Given the description of an element on the screen output the (x, y) to click on. 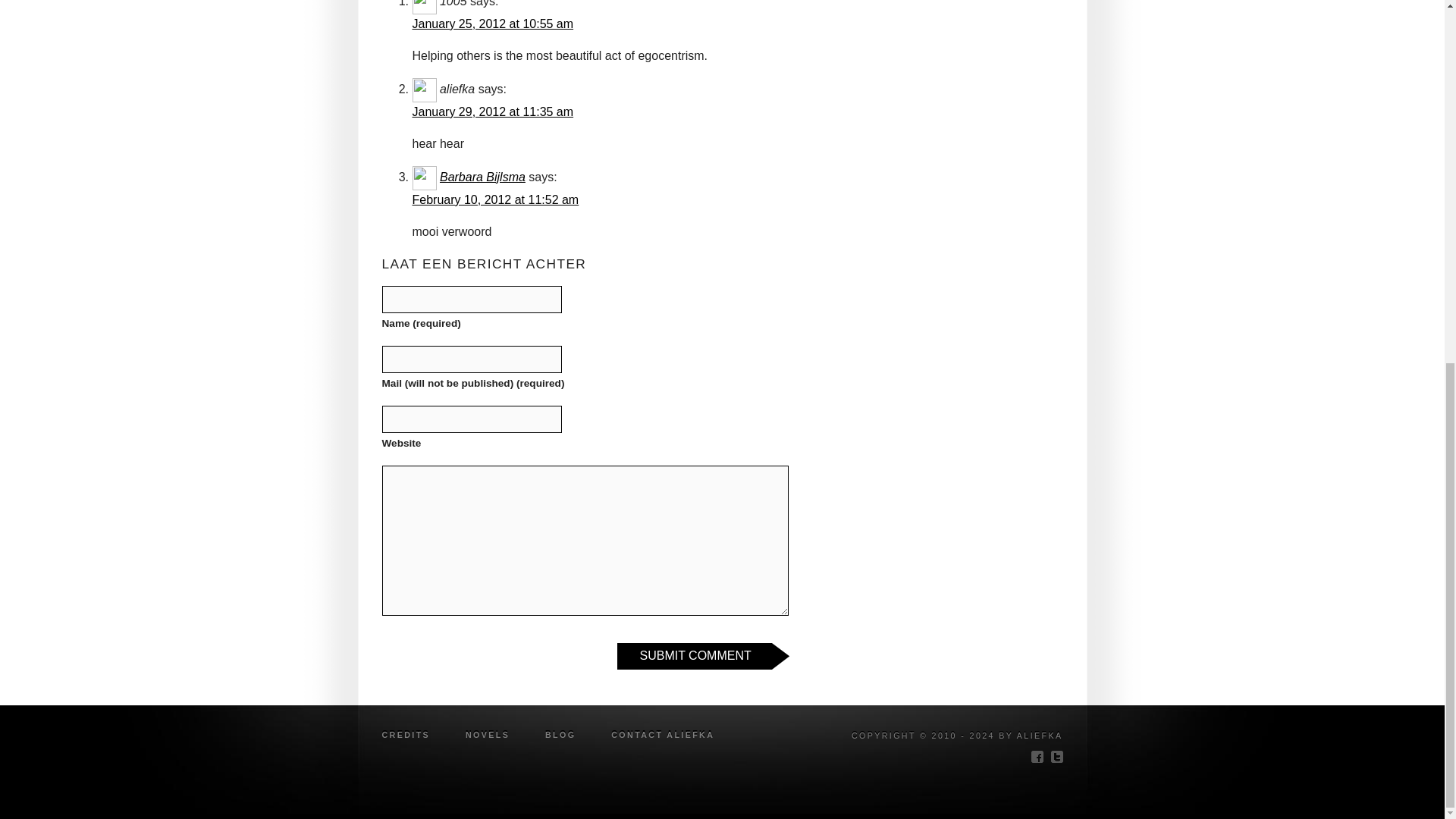
January 25, 2012 at 10:55 am (492, 23)
February 10, 2012 at 11:52 am (495, 199)
January 29, 2012 at 11:35 am (492, 111)
Barbara Bijlsma (482, 176)
SUBMIT COMMENT (703, 655)
